Given the description of an element on the screen output the (x, y) to click on. 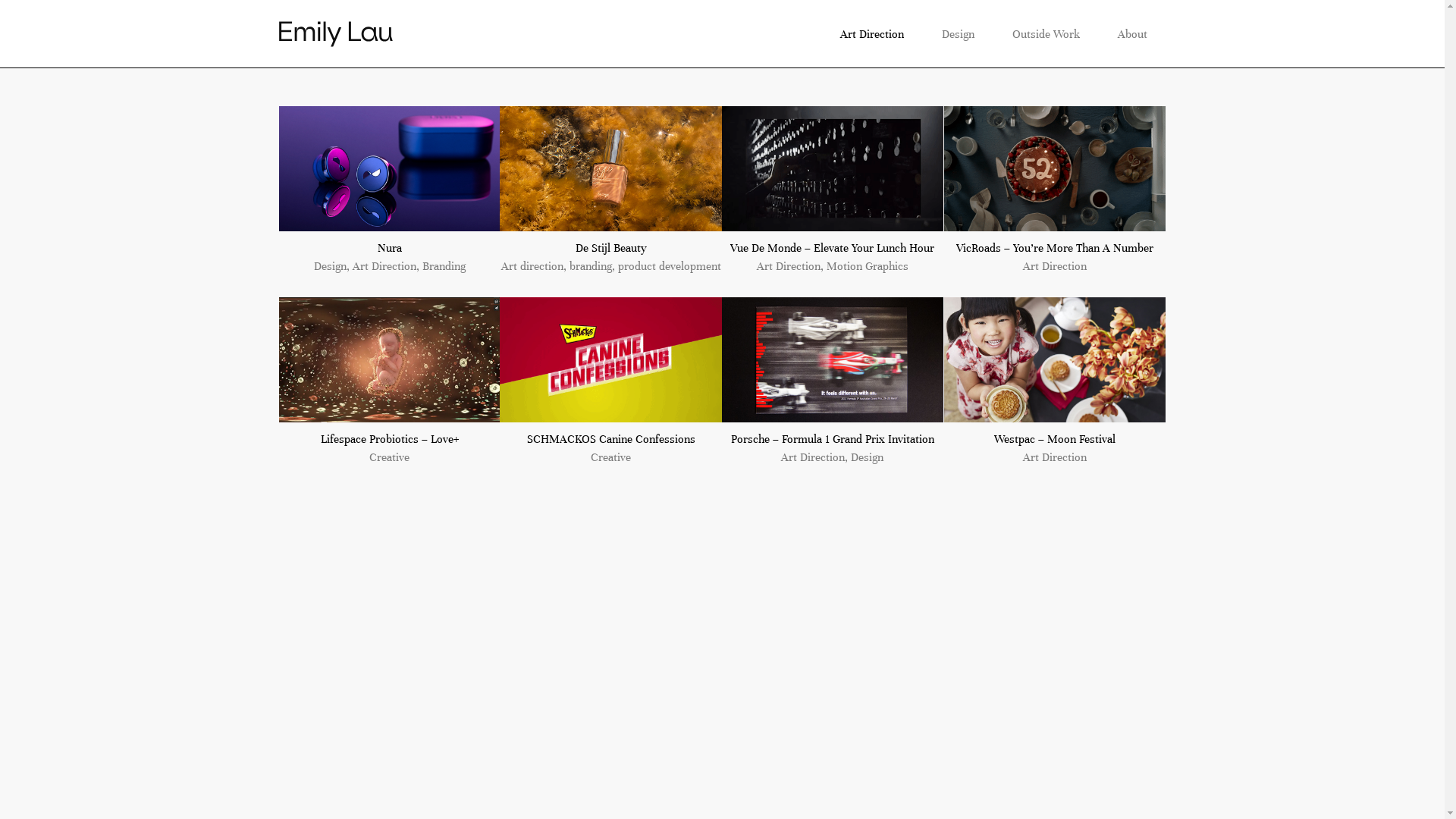
Outside Work Element type: text (1045, 34)
Nura
Design, Art Direction, Branding Element type: text (390, 190)
Design Element type: text (957, 34)
Art Direction Element type: text (871, 34)
About Element type: text (1131, 34)
SCHMACKOS Canine Confessions
Creative Element type: text (610, 381)
EMILY LAU Element type: hover (335, 32)
De Stijl Beauty
Art direction, branding, product development Element type: text (610, 190)
